Given the description of an element on the screen output the (x, y) to click on. 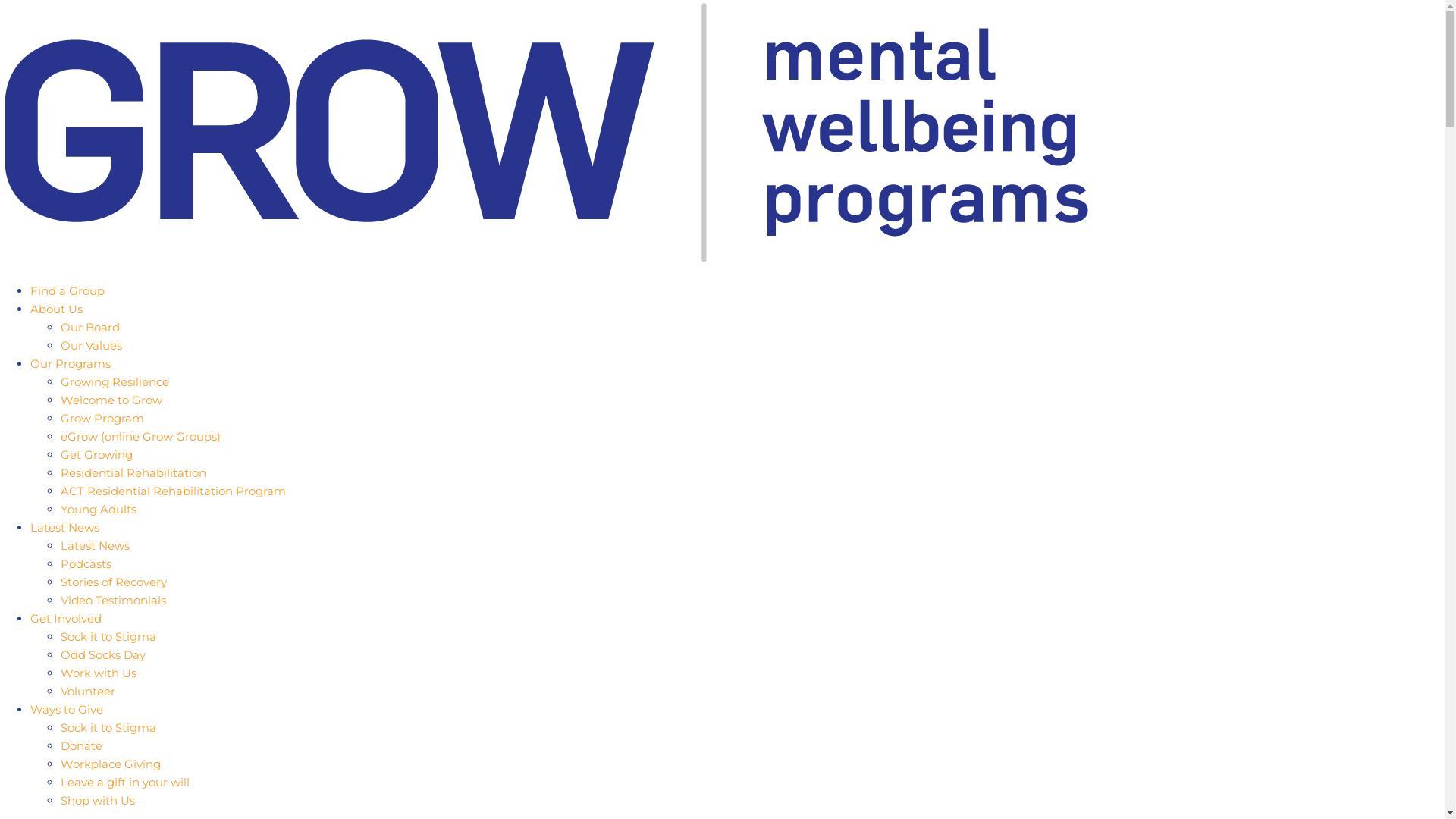
Leave a gift in your will Element type: text (124, 782)
Young Adults Element type: text (98, 509)
Podcasts Element type: text (85, 563)
Sock it to Stigma Element type: text (108, 636)
Workplace Giving Element type: text (110, 763)
Our Programs Element type: text (70, 363)
Find a Group Element type: text (67, 290)
Get Involved Element type: text (65, 618)
Welcome to Grow Element type: text (111, 399)
Latest News Element type: text (94, 545)
ACT Residential Rehabilitation Program Element type: text (172, 490)
Stories of Recovery Element type: text (113, 581)
Shop with Us Element type: text (97, 800)
Residential Rehabilitation Element type: text (133, 472)
Sock it to Stigma Element type: text (108, 727)
Our Values Element type: text (91, 345)
Donate Element type: text (81, 745)
Video Testimonials Element type: text (113, 600)
eGrow (online Grow Groups) Element type: text (140, 436)
Grow Program Element type: text (102, 418)
Ways to Give Element type: text (66, 709)
Volunteer Element type: text (87, 691)
Odd Socks Day Element type: text (102, 654)
Latest News Element type: text (64, 527)
About Us Element type: text (56, 308)
Growing Resilience Element type: text (114, 381)
Work with Us Element type: text (98, 672)
Our Board Element type: text (89, 327)
Get Growing Element type: text (96, 454)
